Given the description of an element on the screen output the (x, y) to click on. 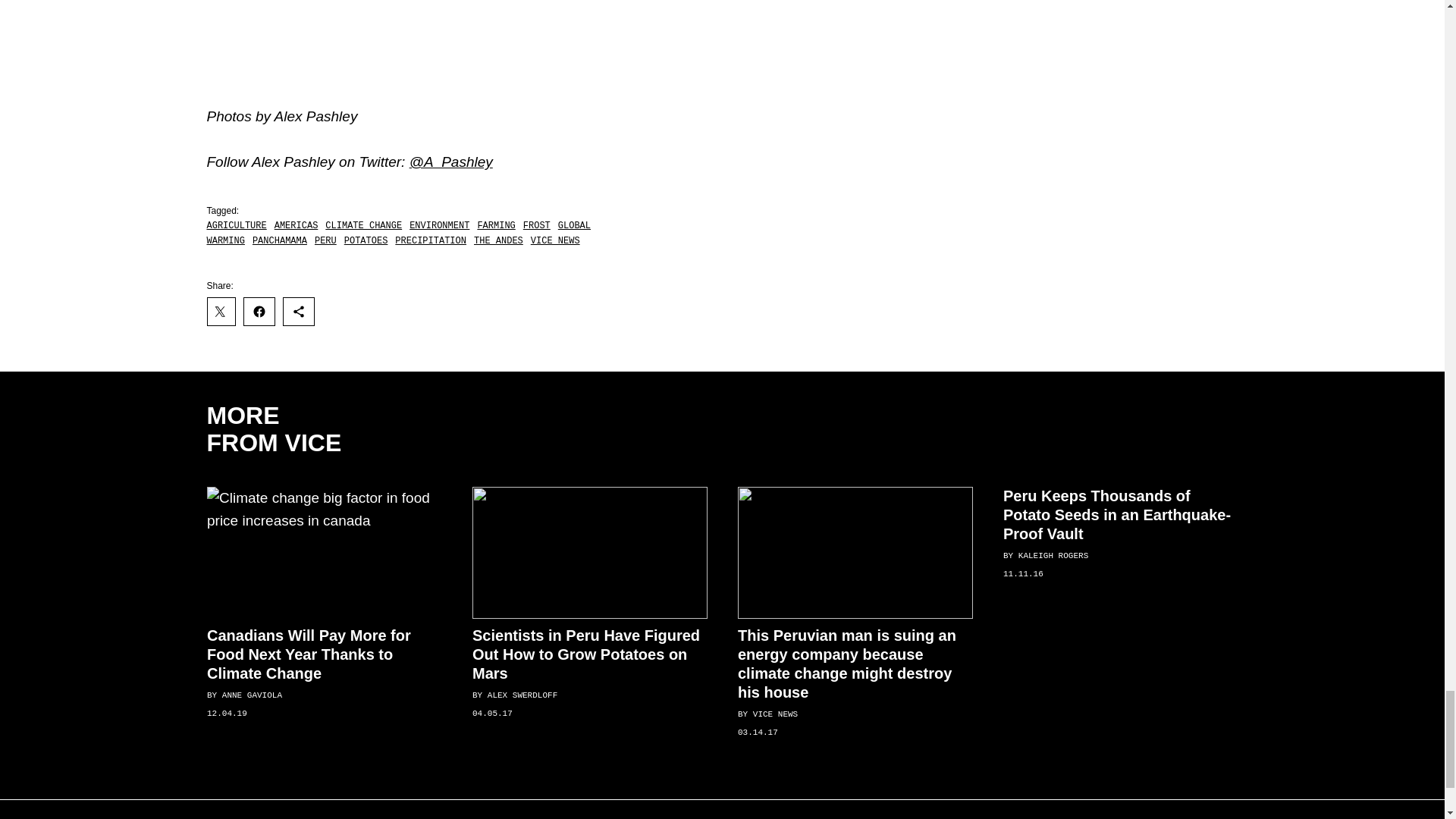
Posts by Alex Swerdloff (521, 696)
Posts by Anne Gaviola (251, 696)
Posts by VICE News (774, 714)
Posts by Kaleigh Rogers (1052, 555)
